Given the description of an element on the screen output the (x, y) to click on. 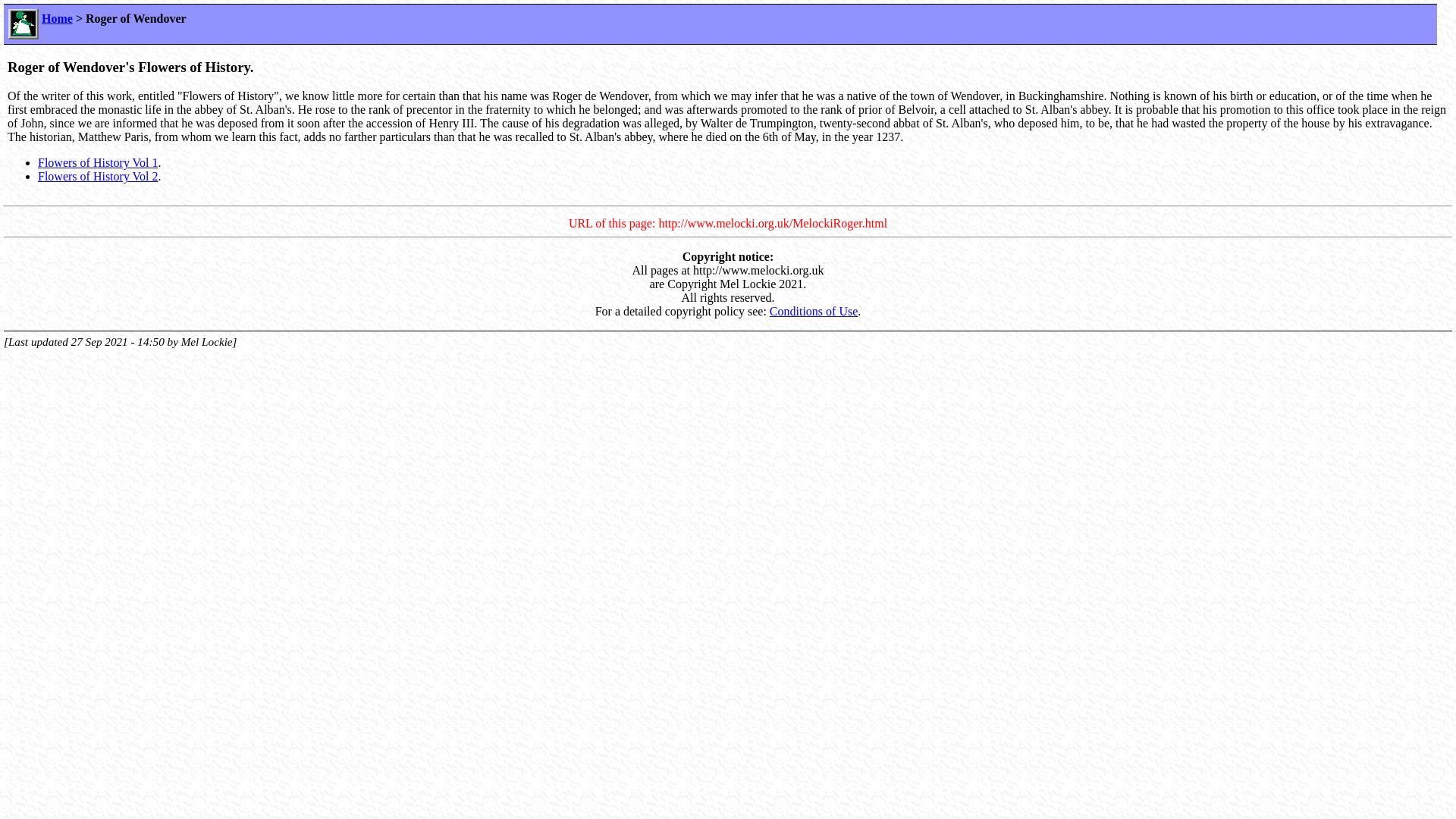
Home (57, 18)
Flowers of History Vol 1 (97, 162)
Flowers of History Vol 2 (97, 175)
Conditions of Use (813, 310)
